Given the description of an element on the screen output the (x, y) to click on. 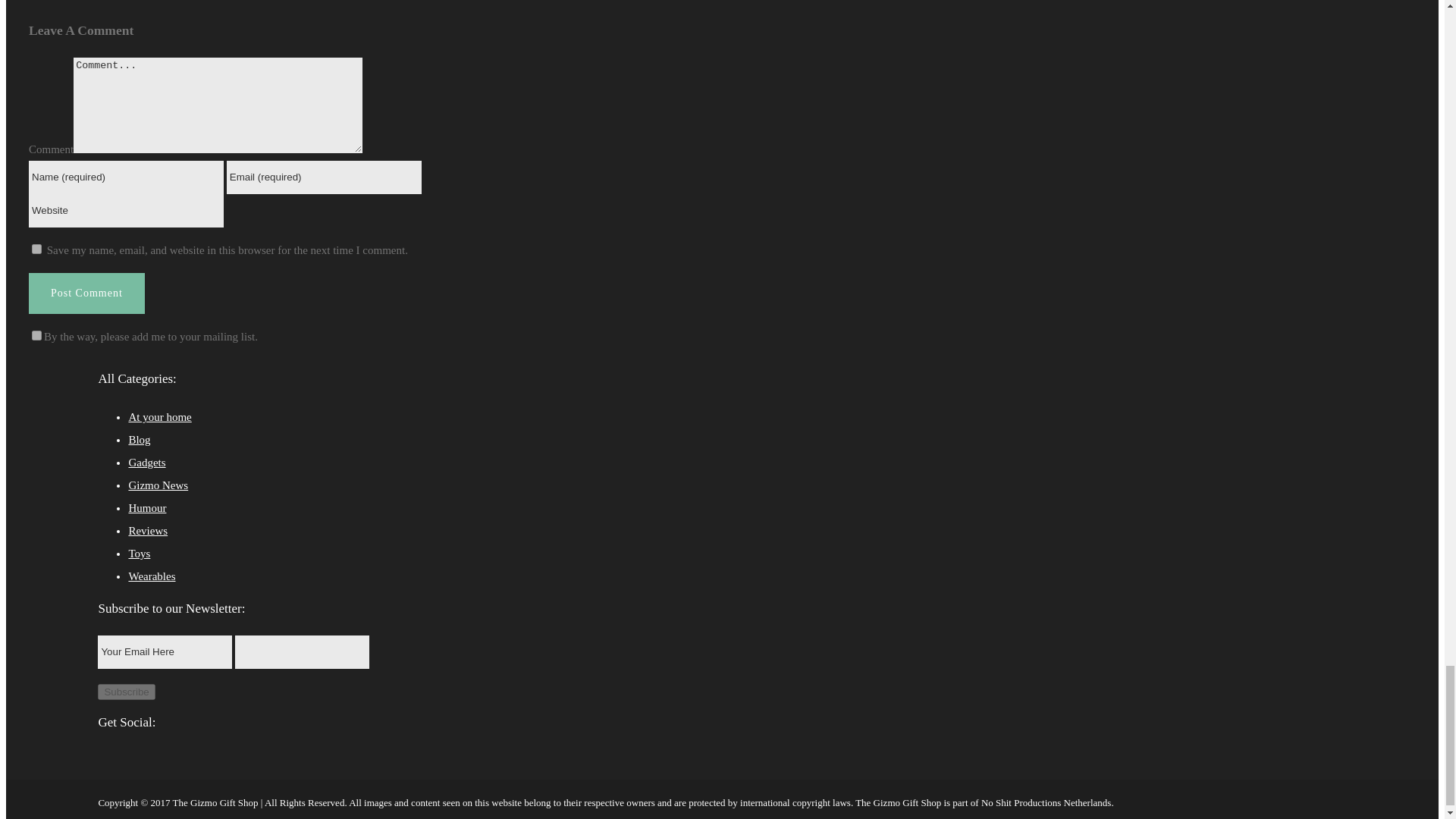
Subscribe (125, 691)
Your Email Here (164, 652)
1 (37, 335)
Post Comment (86, 292)
yes (37, 248)
